Given the description of an element on the screen output the (x, y) to click on. 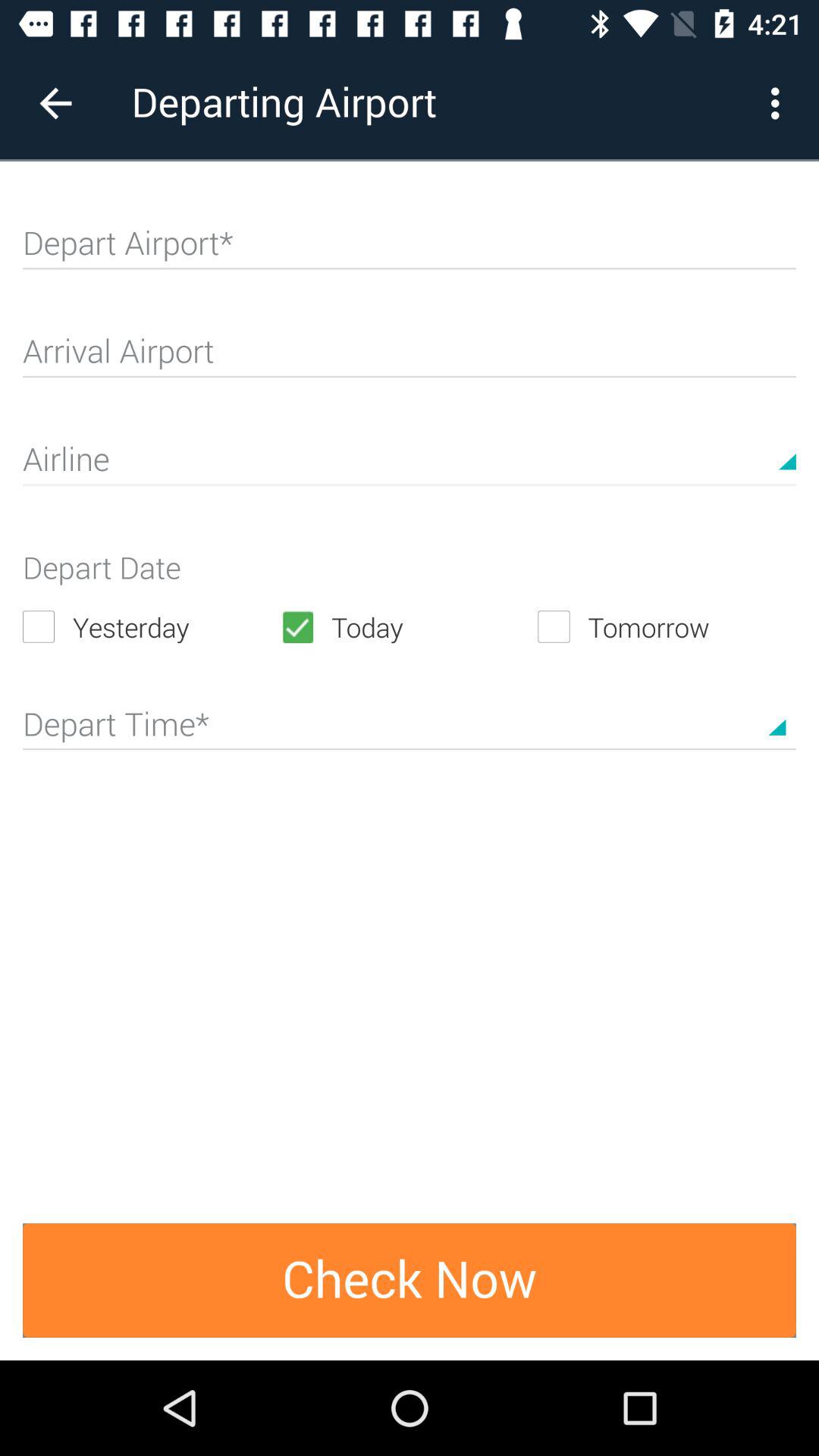
turn off the check now item (409, 1280)
